Given the description of an element on the screen output the (x, y) to click on. 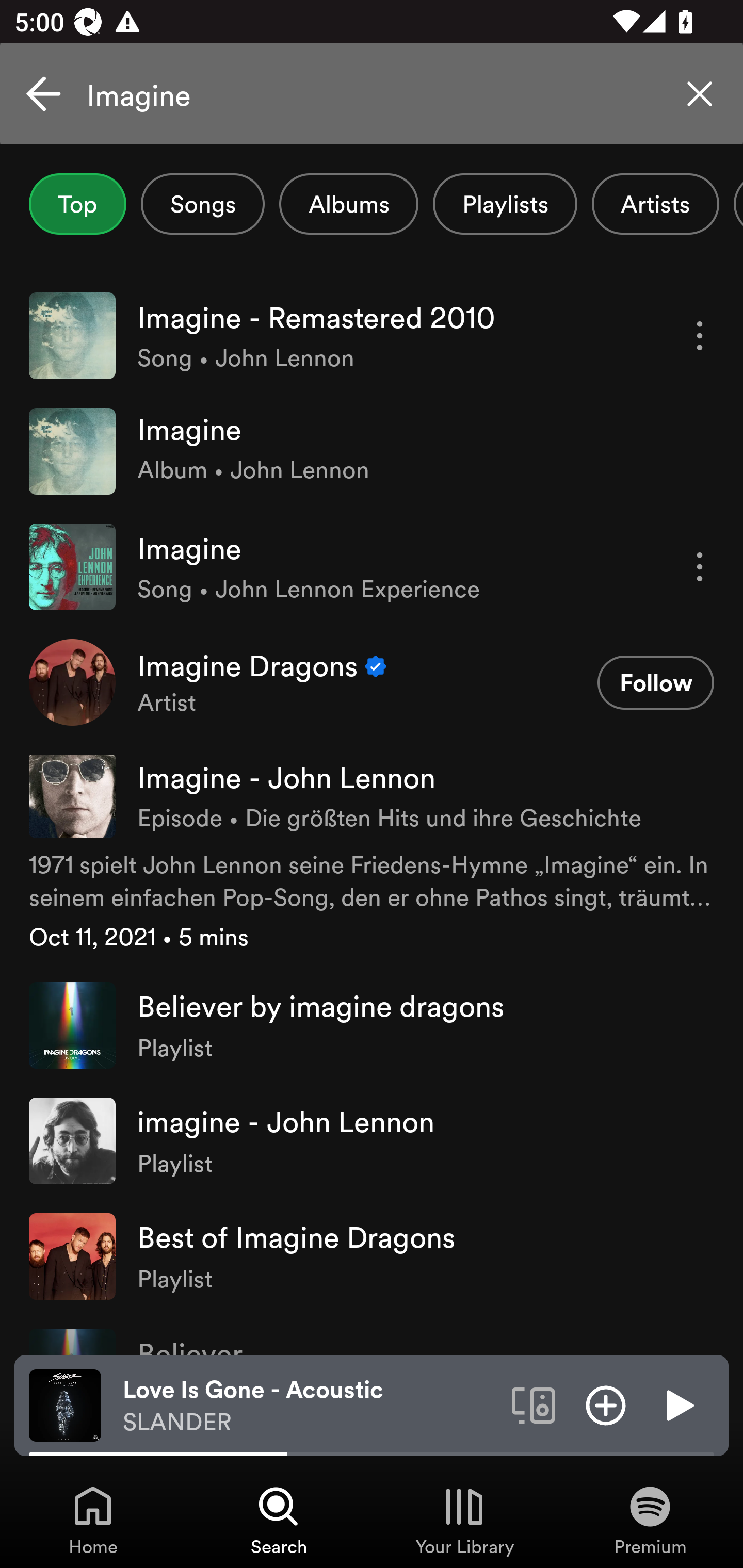
Imagine (371, 93)
Cancel (43, 93)
Clear search query (699, 93)
Top (77, 203)
Songs (202, 203)
Albums (348, 203)
Playlists (505, 203)
Artists (655, 203)
More options for song Imagine - Remastered 2010 (699, 336)
Imagine Album • John Lennon (371, 451)
More options for song Imagine (699, 566)
Imagine Dragons Verified Artist Follow Follow (371, 682)
Follow (655, 682)
Believer by imagine dragons  Playlist (371, 1025)
imagine - John Lennon Playlist (371, 1140)
Best of Imagine Dragons Playlist (371, 1255)
Love Is Gone - Acoustic SLANDER (309, 1405)
The cover art of the currently playing track (64, 1404)
Connect to a device. Opens the devices menu (533, 1404)
Add item (605, 1404)
Play (677, 1404)
Home, Tab 1 of 4 Home Home (92, 1519)
Search, Tab 2 of 4 Search Search (278, 1519)
Your Library, Tab 3 of 4 Your Library Your Library (464, 1519)
Premium, Tab 4 of 4 Premium Premium (650, 1519)
